Given the description of an element on the screen output the (x, y) to click on. 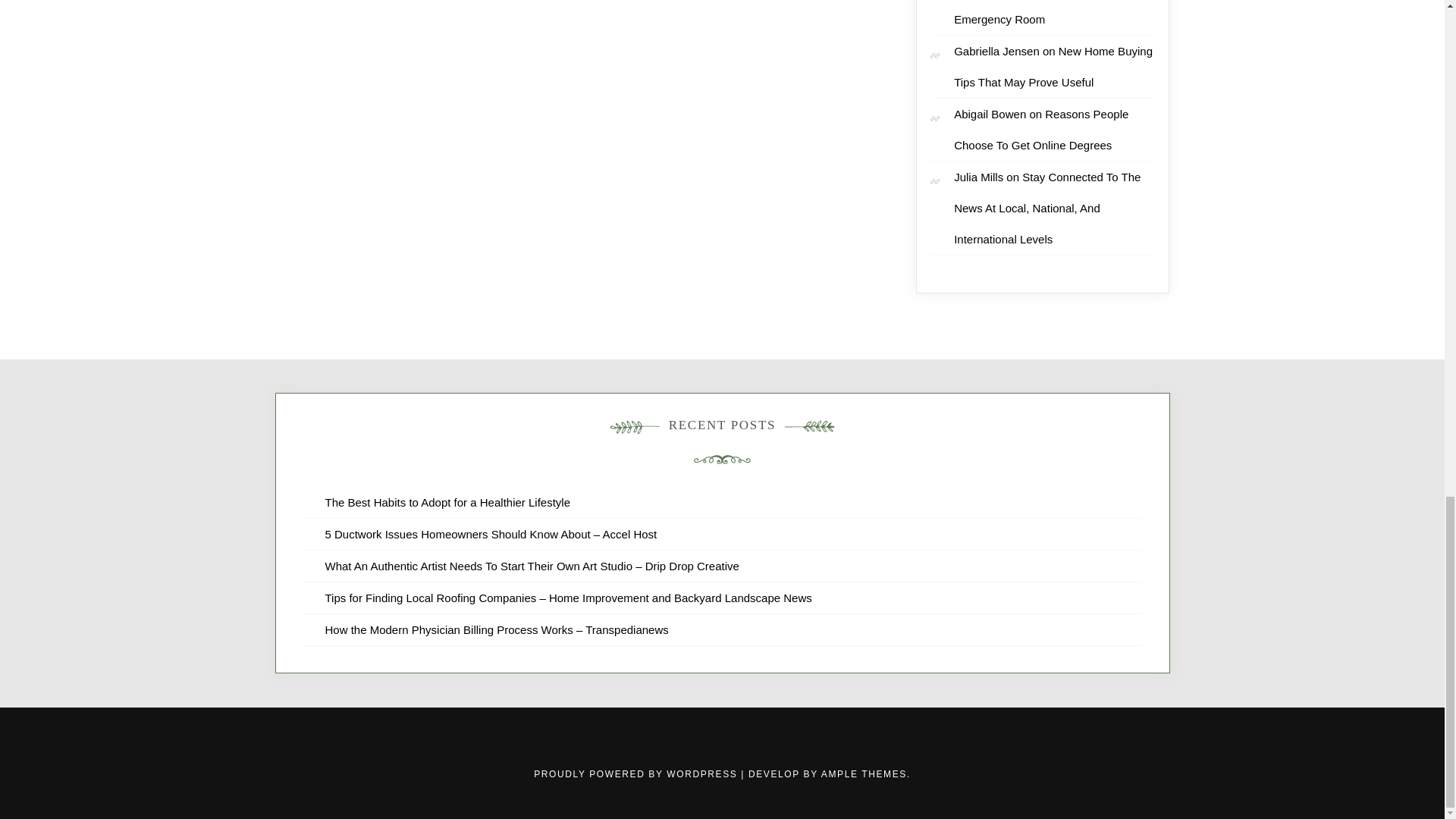
Julia Mills (978, 176)
Urgent Care When you Do Not actually Need the Emergency Room (1053, 12)
The Best Habits to Adopt for a Healthier Lifestyle (447, 502)
Gabriella Jensen (996, 51)
Reasons People Choose To Get Online Degrees (1040, 129)
New Home Buying Tips That May Prove Useful (1053, 66)
PROUDLY POWERED BY WORDPRESS (637, 774)
